Given the description of an element on the screen output the (x, y) to click on. 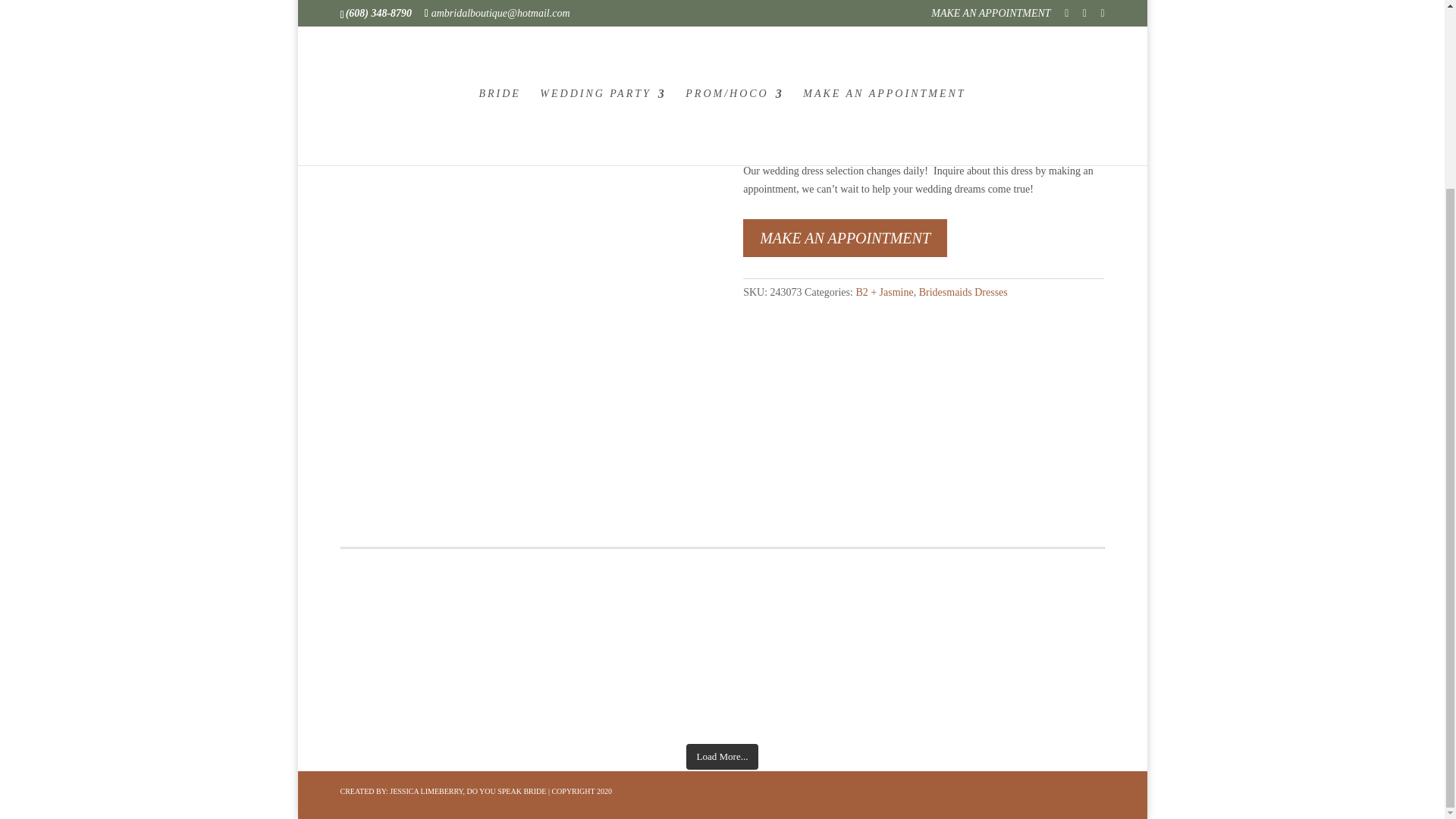
MAKE AN APPOINTMENT (844, 238)
Load More... (721, 756)
Bridesmaids Dresses (962, 292)
JESSICA LIMEBERRY, DO YOU SPEAK BRIDE (468, 791)
